Given the description of an element on the screen output the (x, y) to click on. 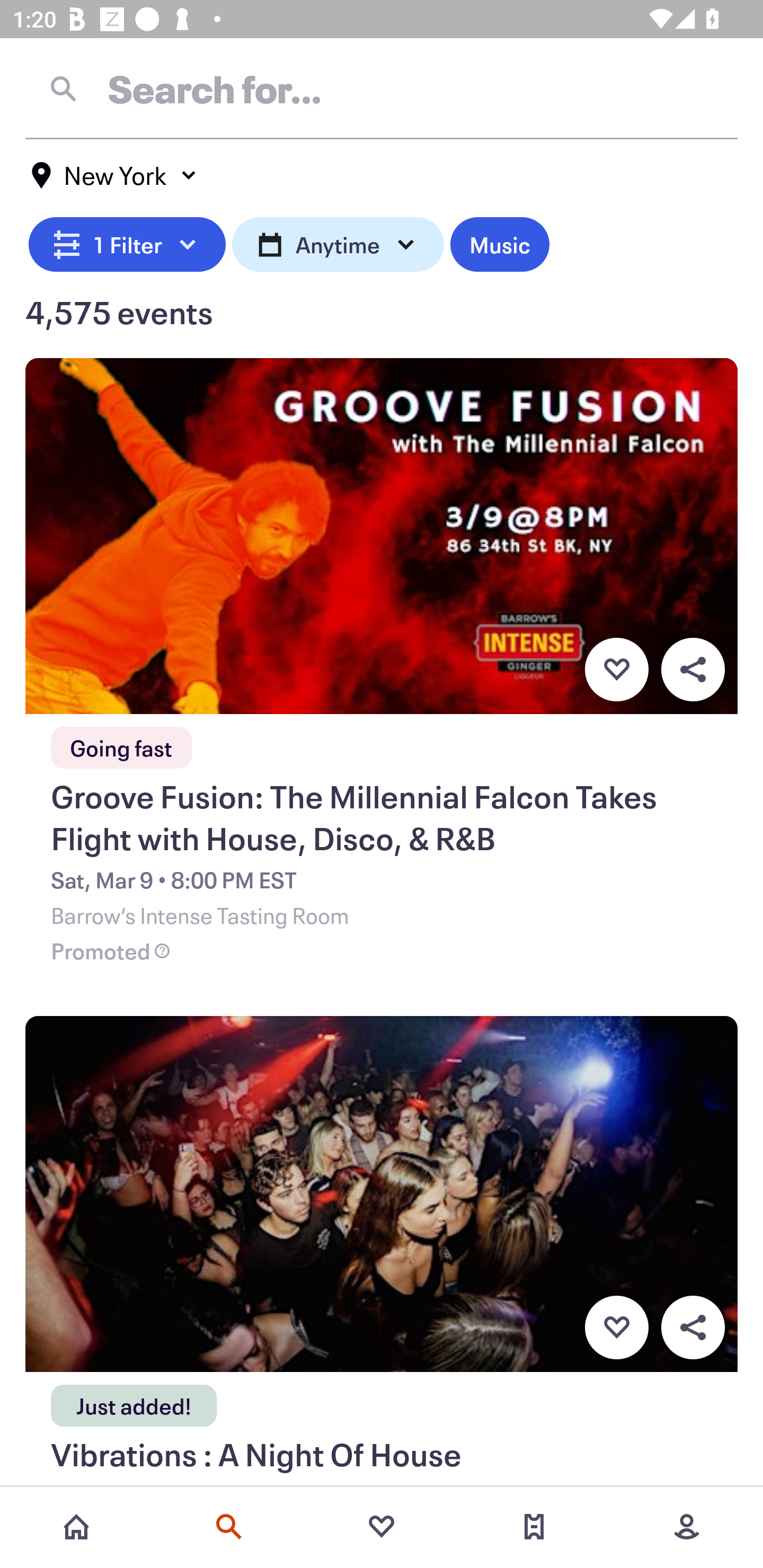
Search for… (381, 88)
New York (114, 175)
1 Filter (126, 241)
Anytime (337, 241)
Music (499, 241)
Favorite button (616, 669)
Overflow menu button (692, 669)
Favorite button (616, 1326)
Overflow menu button (692, 1326)
Just added! (133, 1400)
Home (76, 1526)
Search events (228, 1526)
Favorites (381, 1526)
Tickets (533, 1526)
More (686, 1526)
